Given the description of an element on the screen output the (x, y) to click on. 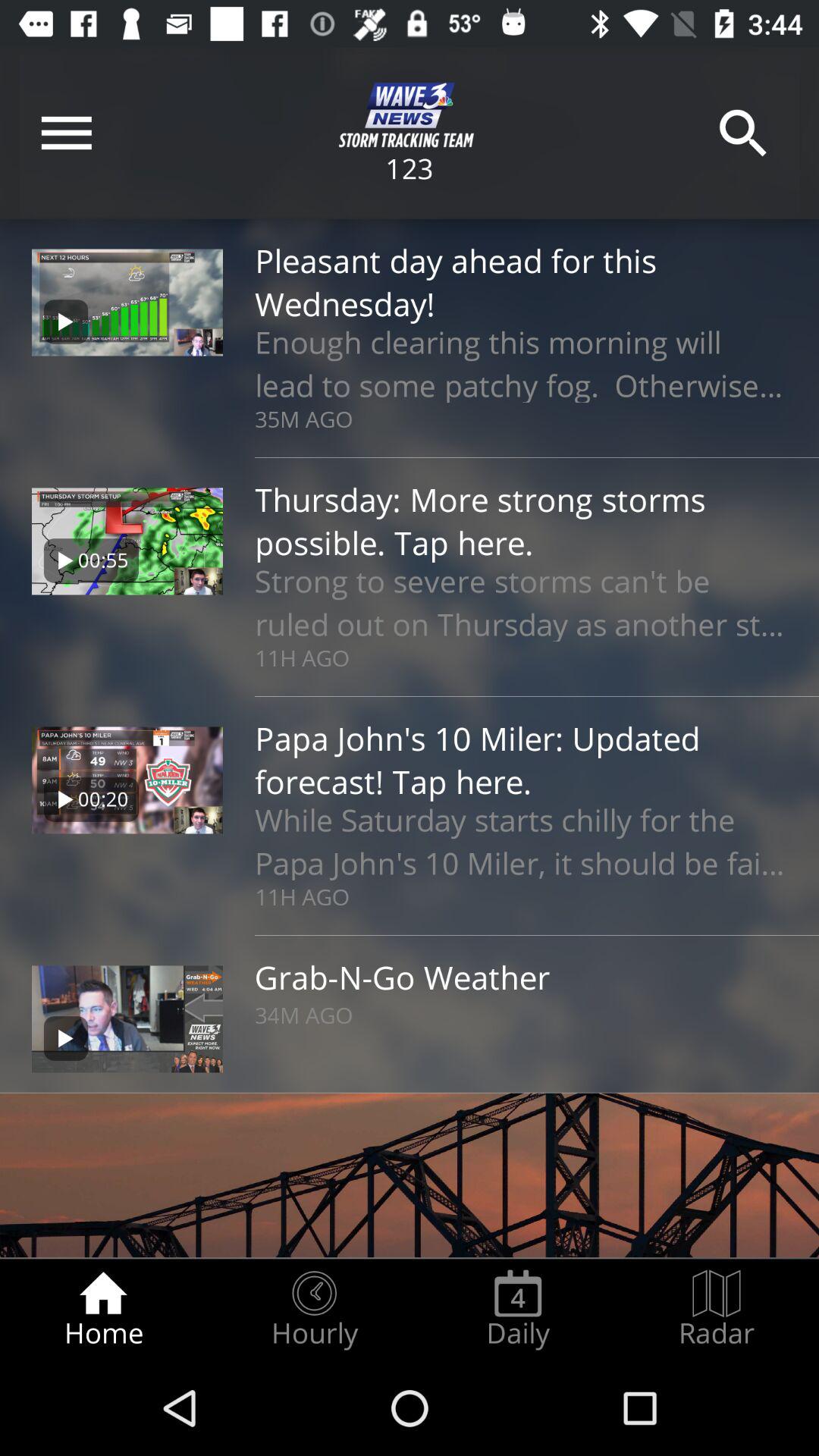
click icon to the left of the radar icon (518, 1309)
